Given the description of an element on the screen output the (x, y) to click on. 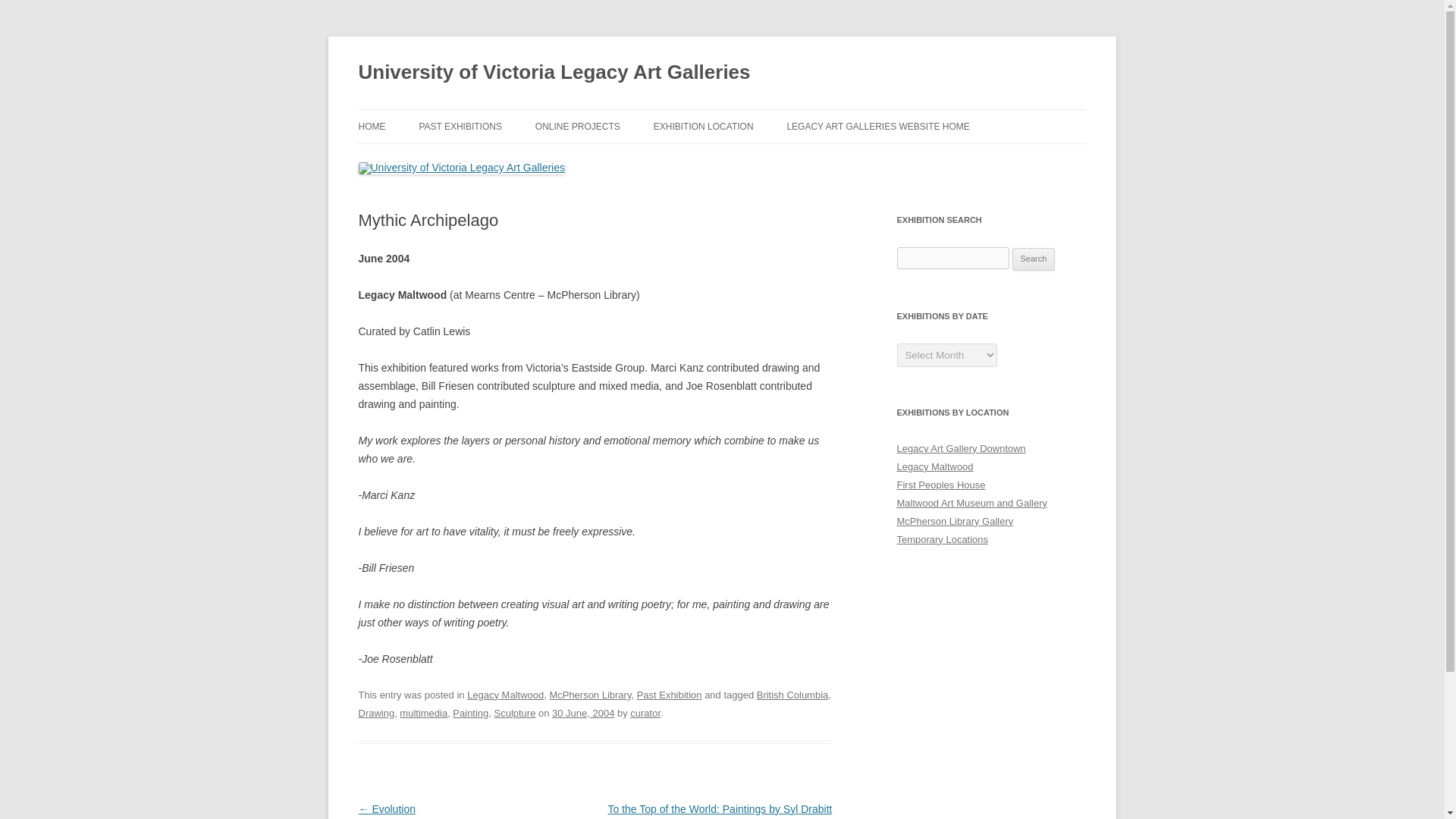
McPherson Library Gallery (954, 521)
ONLINE PROJECTS (577, 126)
University of Victoria Legacy Art Galleries (553, 72)
Sculpture (515, 713)
LEGACY ART GALLERIES WEBSITE HOME (877, 126)
Temporary Locations (942, 539)
10:28 am (582, 713)
First Peoples House (940, 484)
PAST EXHIBITIONS (460, 126)
30 June, 2004 (582, 713)
